Given the description of an element on the screen output the (x, y) to click on. 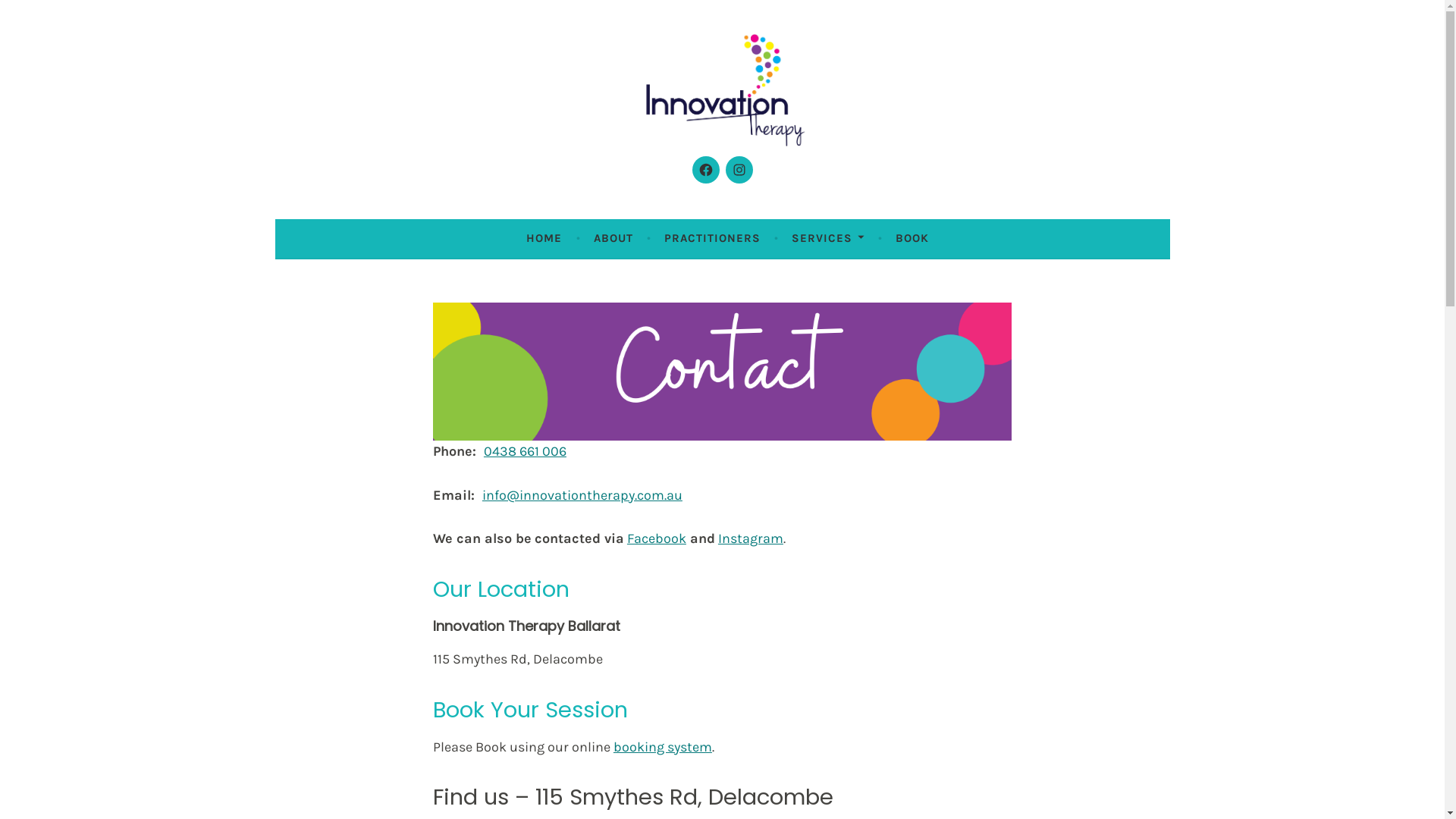
Instagram Element type: text (738, 169)
ABOUT Element type: text (613, 237)
Facebook Element type: text (656, 538)
booking system Element type: text (662, 746)
0438 661 006 Element type: text (524, 450)
Instagram Element type: text (750, 538)
BOOK Element type: text (911, 237)
HOME Element type: text (543, 237)
Innovation Therapy Element type: text (489, 178)
info@innovationtherapy.com.au Element type: text (582, 494)
PRACTITIONERS Element type: text (712, 237)
Facebook Element type: text (704, 169)
SERVICES Element type: text (827, 237)
